Given the description of an element on the screen output the (x, y) to click on. 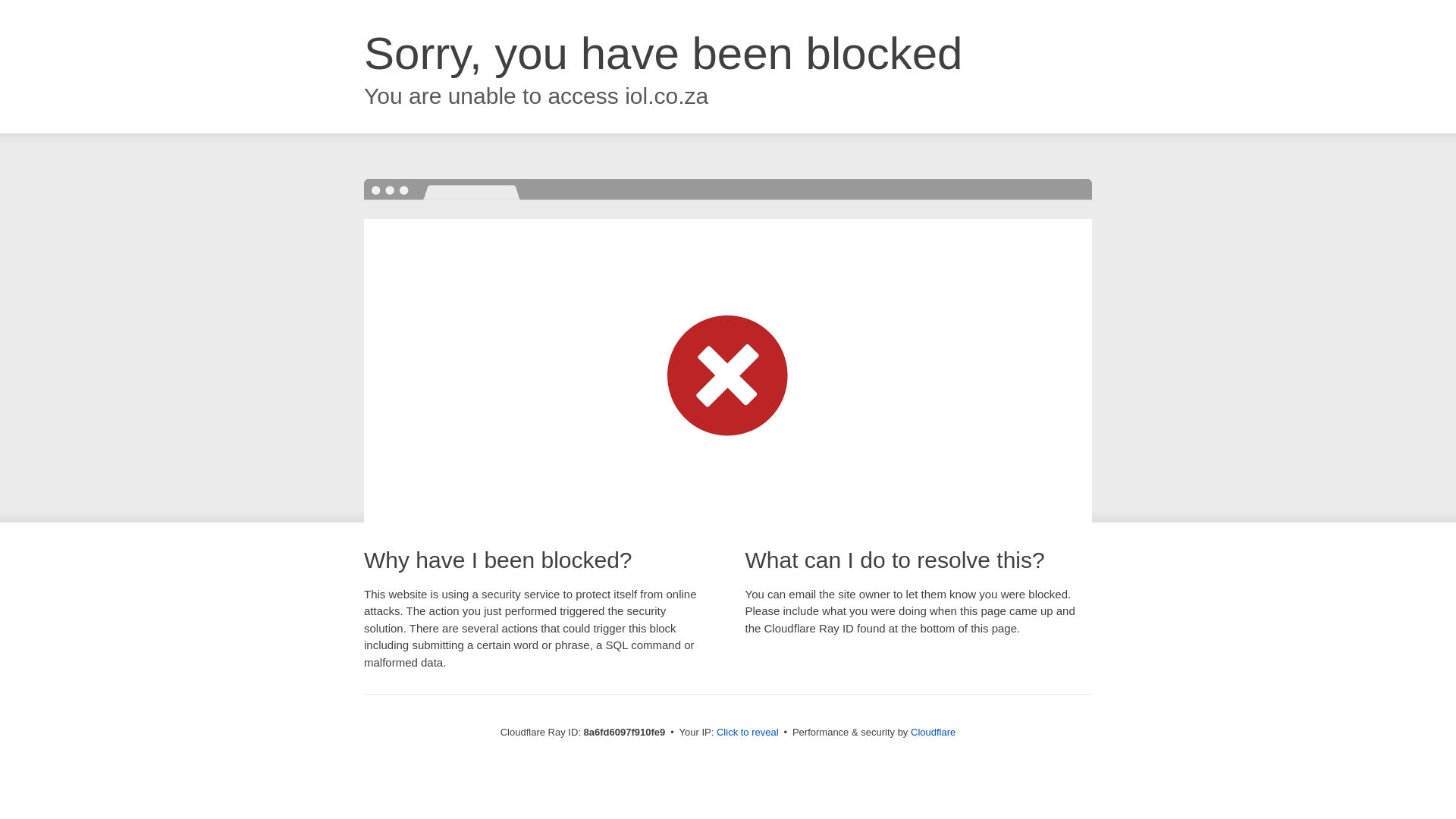
Cloudflare (933, 731)
Click to reveal (747, 732)
